Given the description of an element on the screen output the (x, y) to click on. 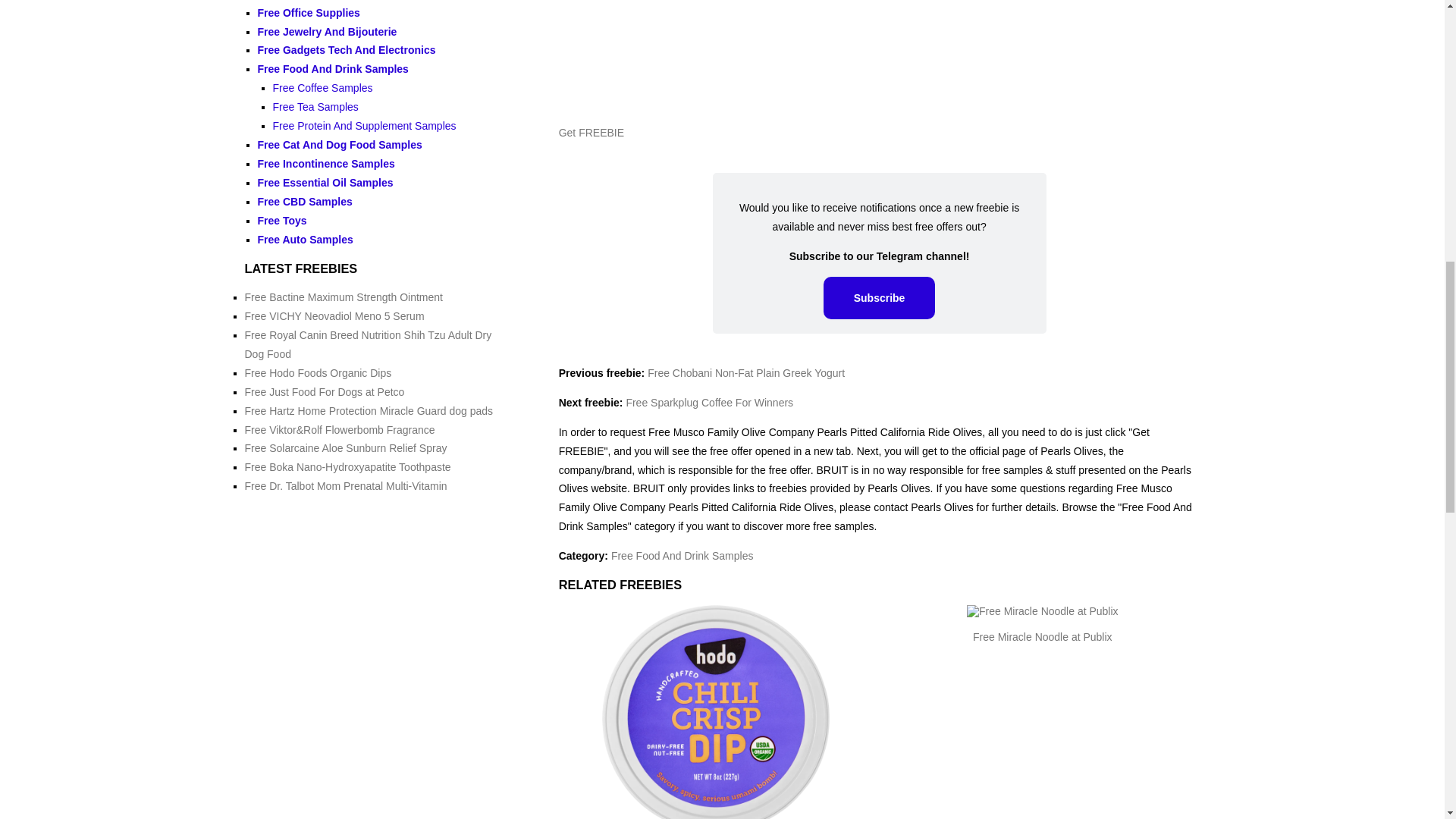
Free Sparkplug Coffee For Winners (709, 402)
Free Food And Drink Samples (682, 555)
Get FREEBIE (591, 132)
Advertisement (879, 56)
Subscribe (880, 297)
Free Miracle Noodle at Publix (1042, 636)
Free Chobani Non-Fat Plain Greek Yogurt (745, 372)
